Given the description of an element on the screen output the (x, y) to click on. 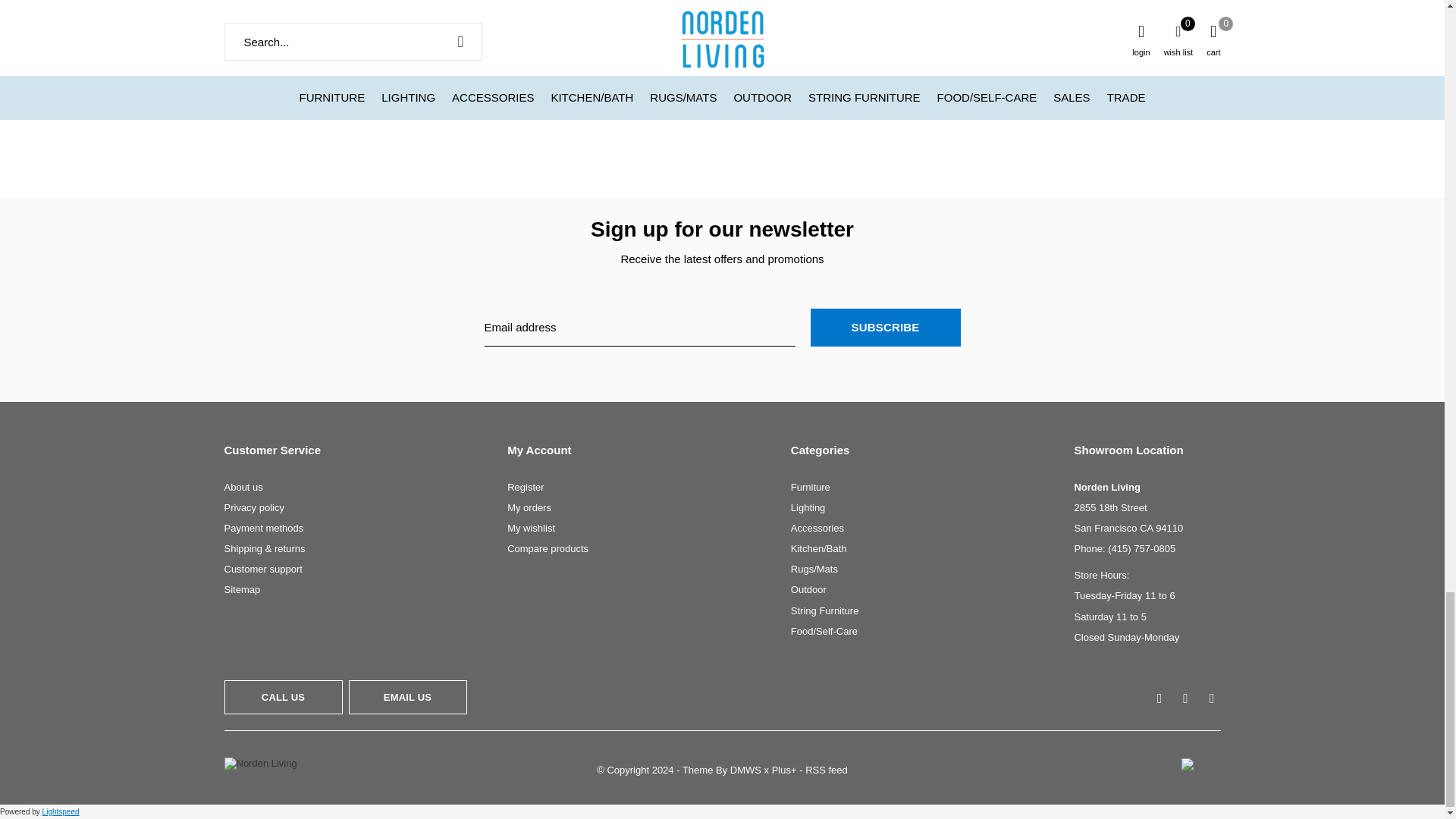
Register (524, 487)
My wishlist (530, 527)
My orders (528, 507)
Lightspeed (61, 811)
